Given the description of an element on the screen output the (x, y) to click on. 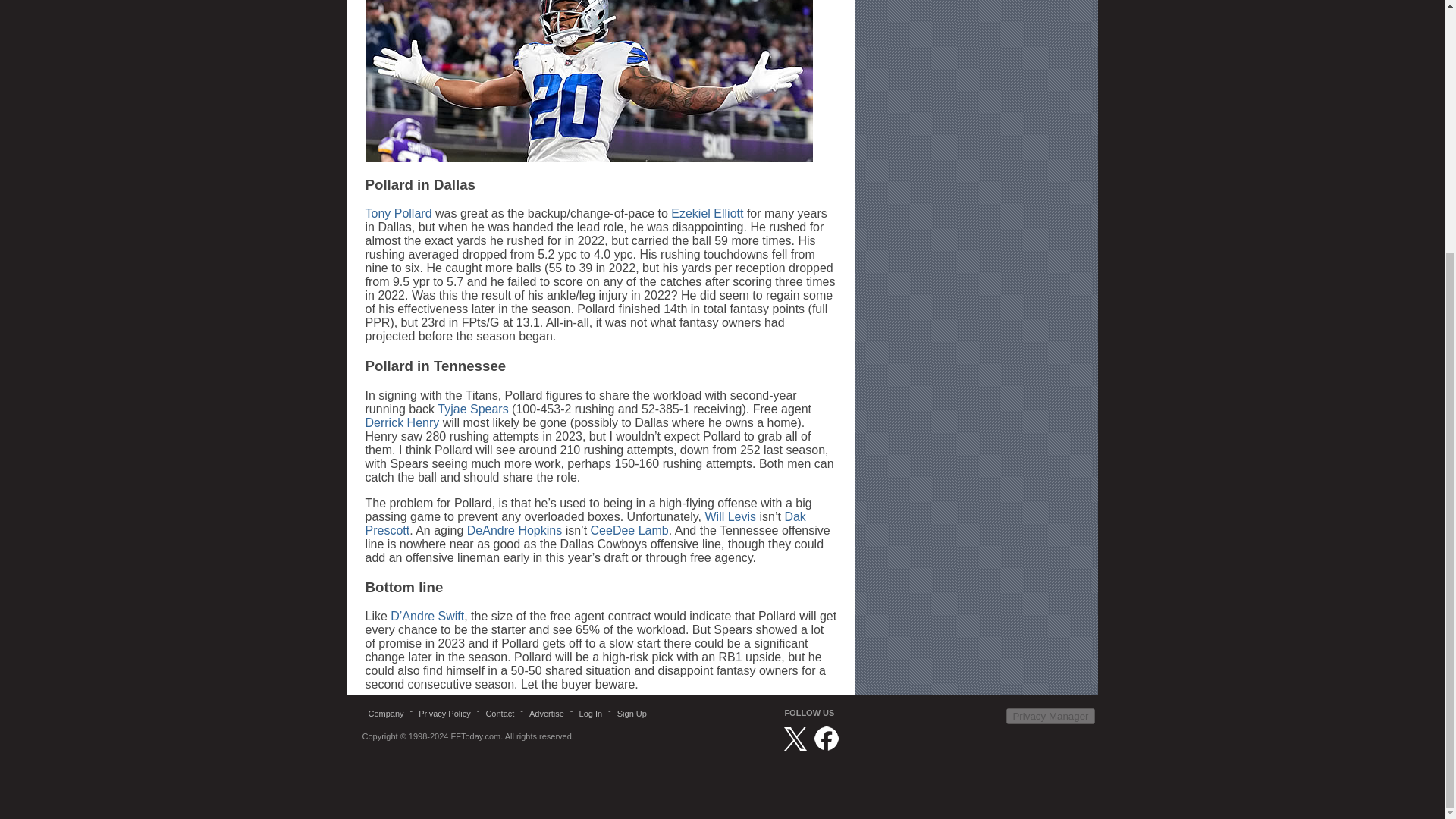
Ezekiel Elliott (706, 213)
Dak Prescott (585, 523)
Contact (499, 713)
Derrick Henry (402, 422)
Log In (590, 713)
Company (386, 713)
Privacy Manager (1050, 715)
DeAndre Hopkins (514, 530)
Sign Up (631, 713)
Will Levis (729, 516)
Advertise (546, 713)
Tony Pollard (398, 213)
CeeDee Lamb (629, 530)
Tyjae Spears (473, 408)
Privacy Policy (444, 713)
